Given the description of an element on the screen output the (x, y) to click on. 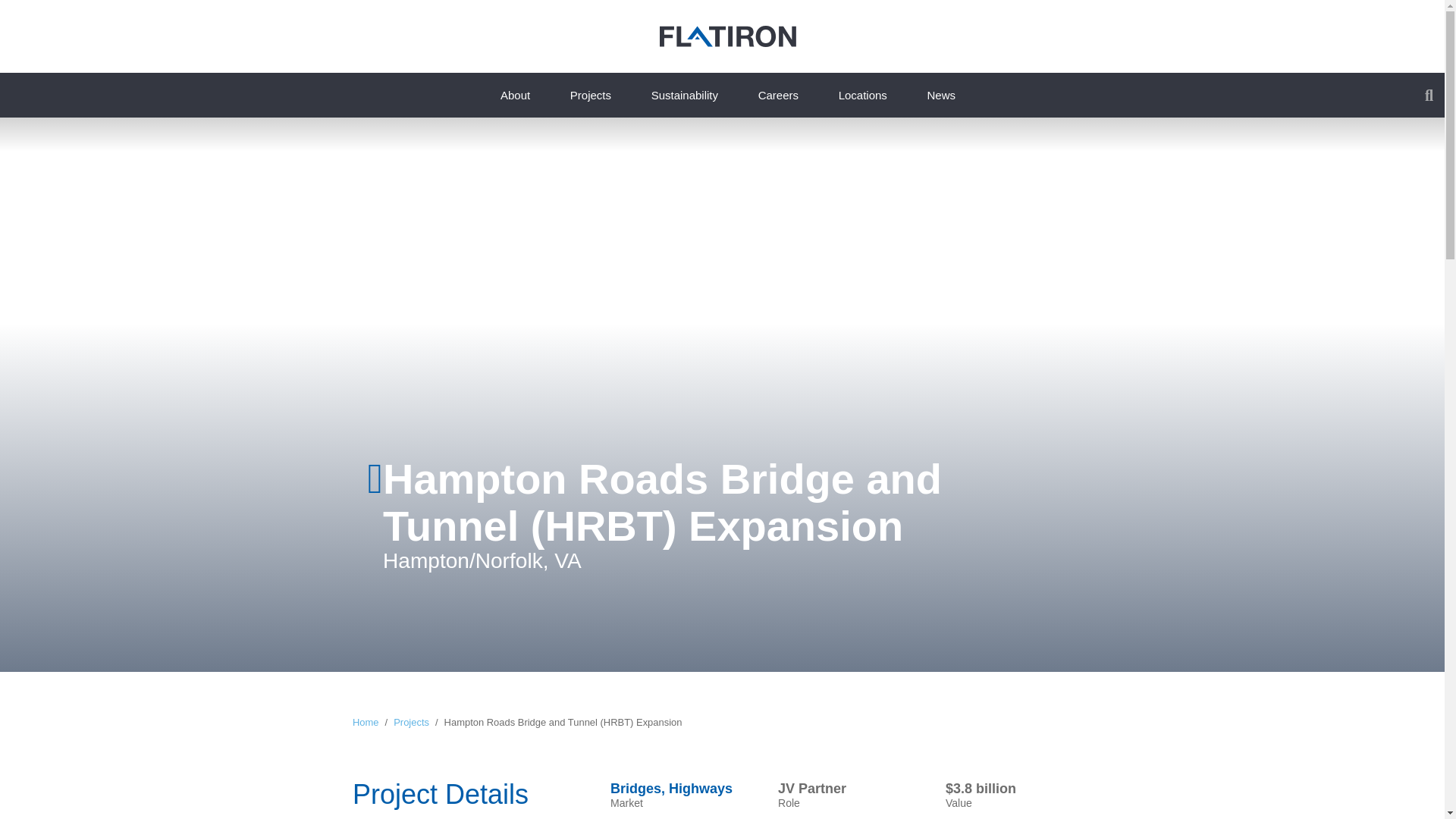
Sustainability (684, 94)
Locations (862, 94)
About (515, 94)
Careers (777, 94)
Projects (591, 94)
